Given the description of an element on the screen output the (x, y) to click on. 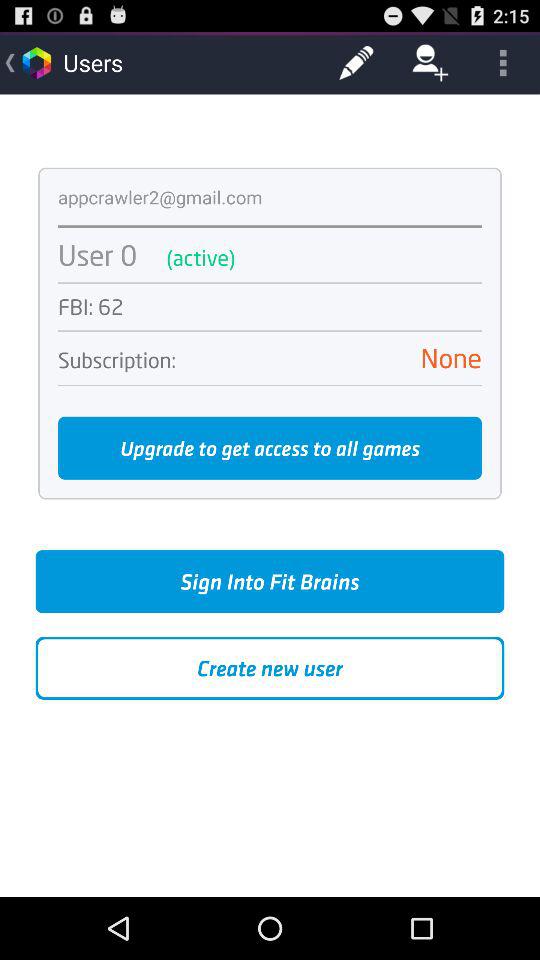
turn off the user 0 (97, 254)
